Given the description of an element on the screen output the (x, y) to click on. 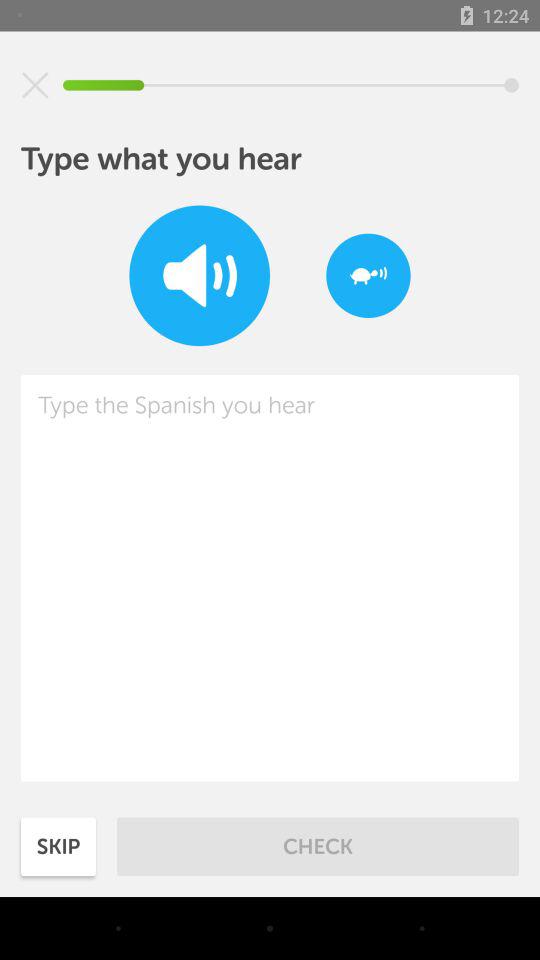
flip to the check icon (318, 846)
